Given the description of an element on the screen output the (x, y) to click on. 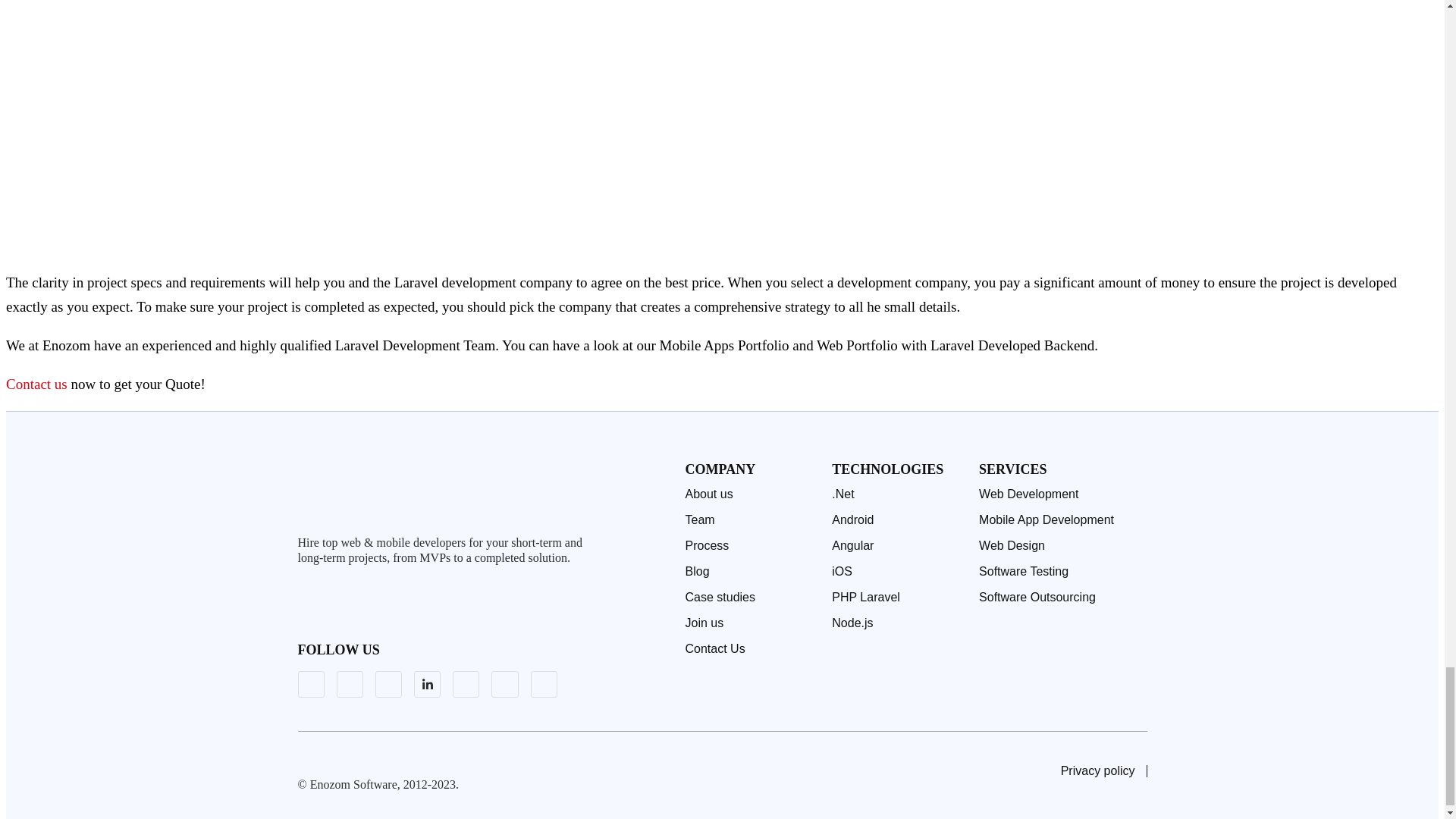
Contact us (35, 383)
.Net (897, 493)
About us (750, 493)
Team (750, 519)
Process (750, 545)
Contact Us (750, 648)
Join us (750, 623)
Blog (750, 571)
Case studies (750, 597)
